Given the description of an element on the screen output the (x, y) to click on. 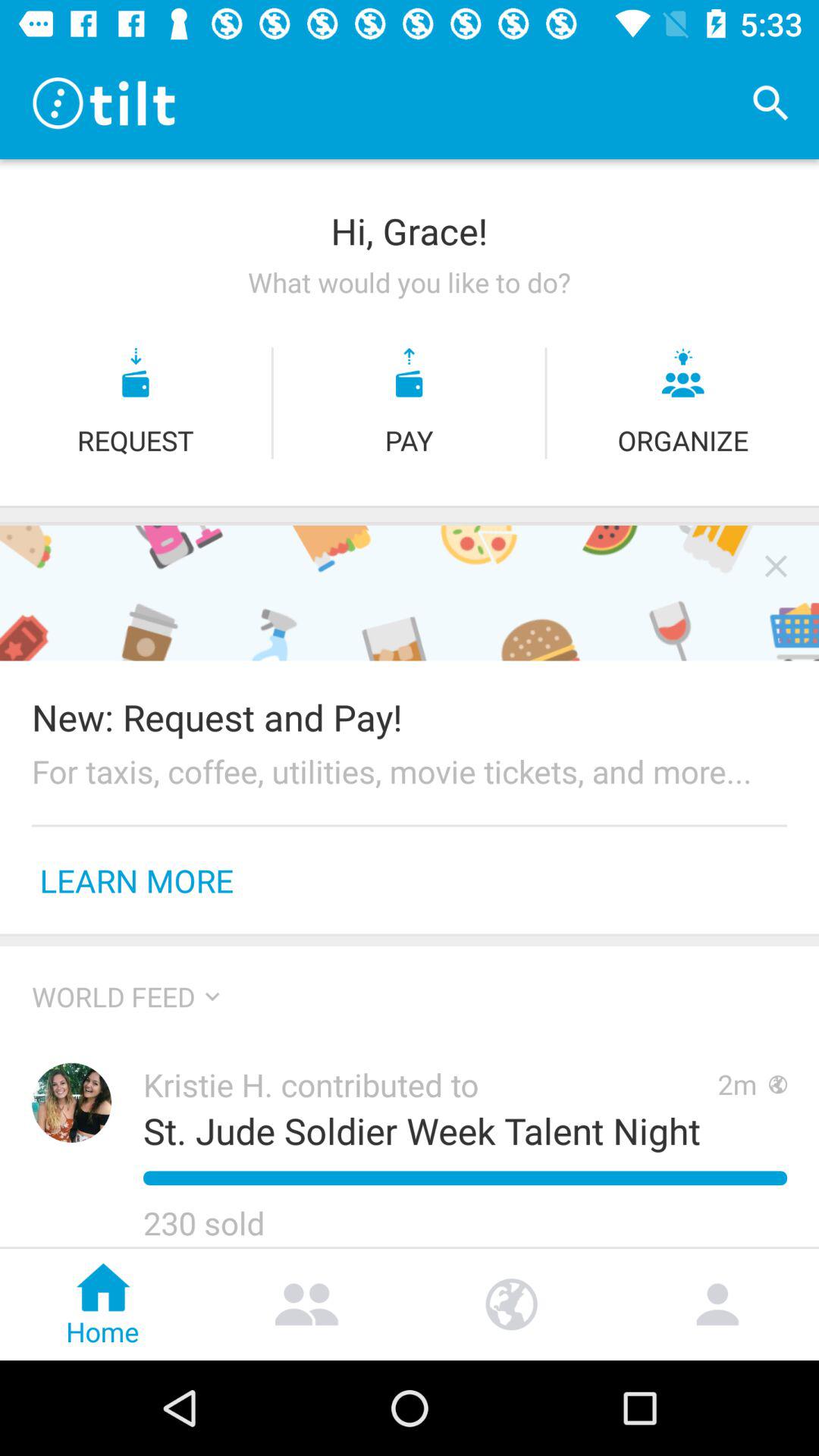
click the item to the left of 2m (430, 1084)
